Given the description of an element on the screen output the (x, y) to click on. 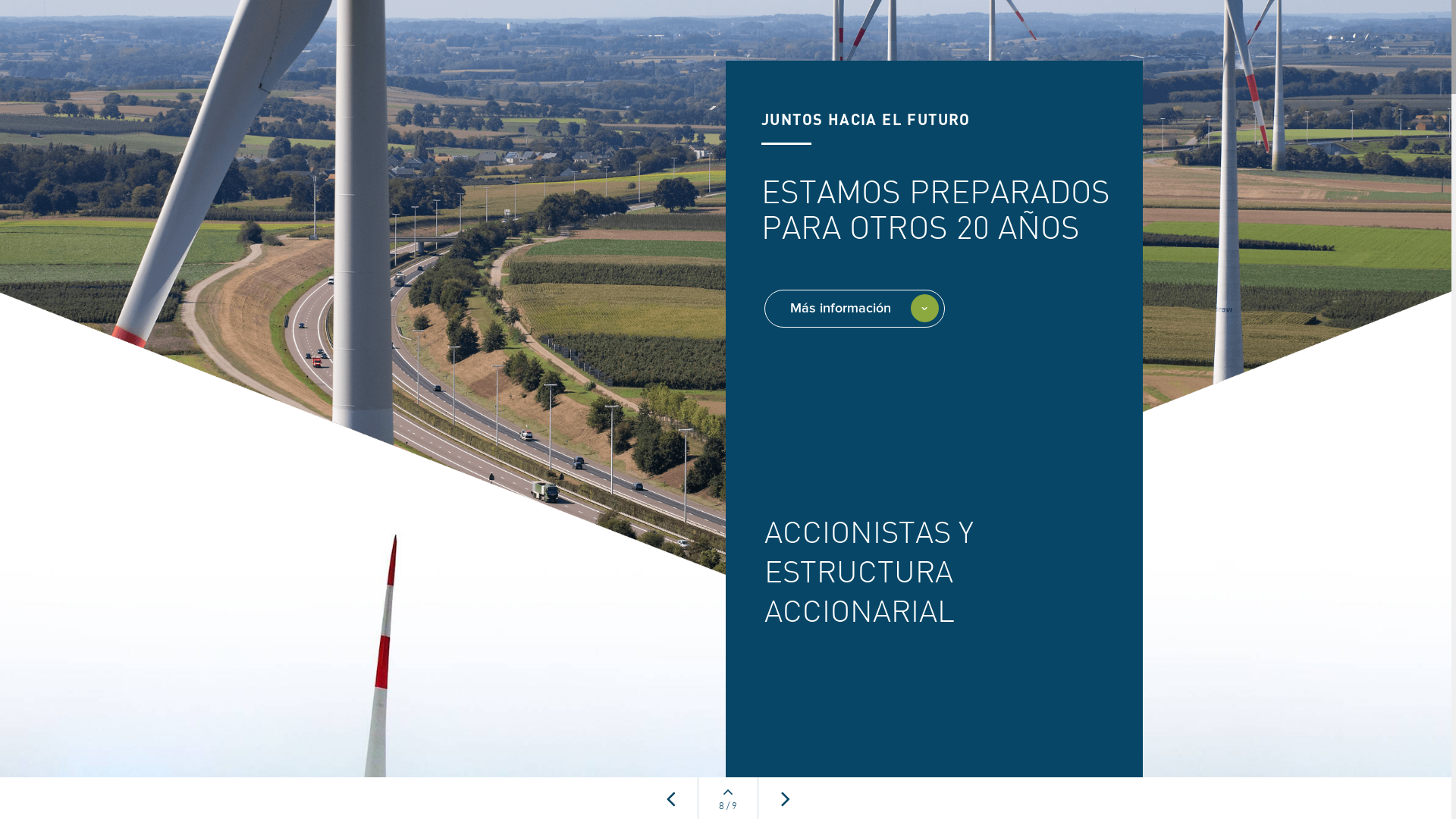
Saltar al contenido Element type: text (26, 738)
